Given the description of an element on the screen output the (x, y) to click on. 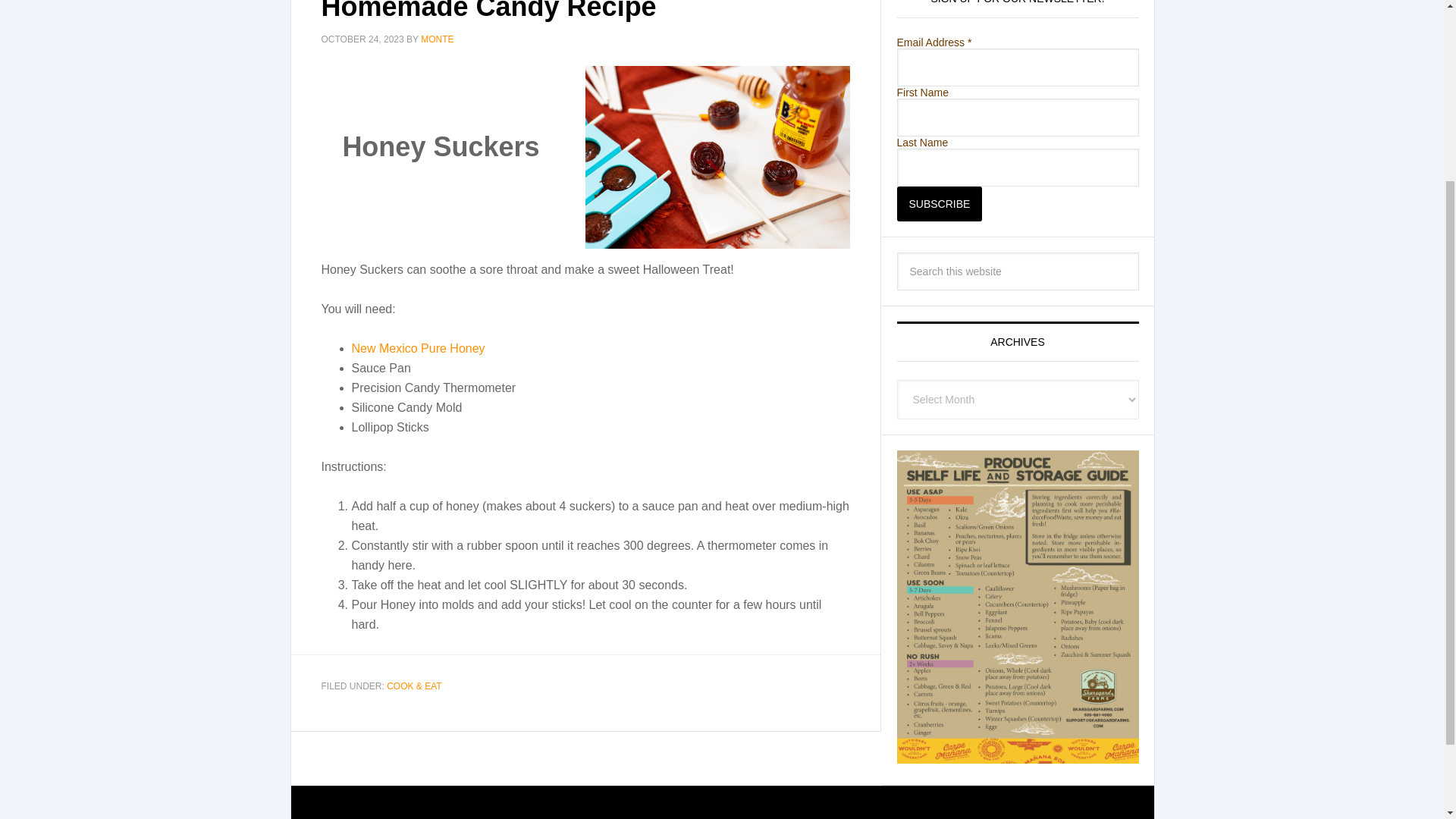
New Mexico Pure Honey (418, 348)
Subscribe (938, 203)
MONTE (436, 39)
Subscribe (938, 203)
